Given the description of an element on the screen output the (x, y) to click on. 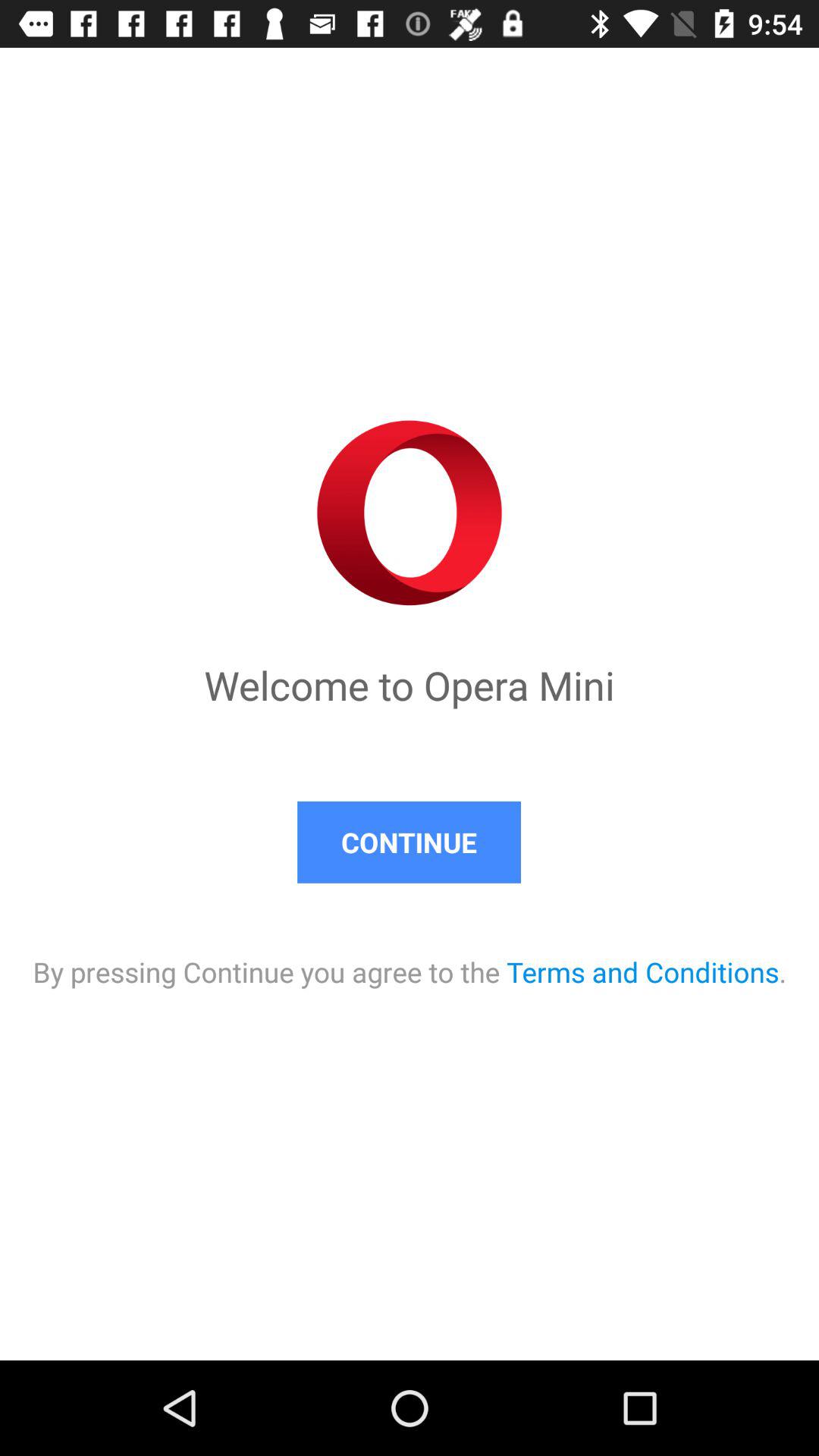
tap by pressing continue (409, 956)
